Given the description of an element on the screen output the (x, y) to click on. 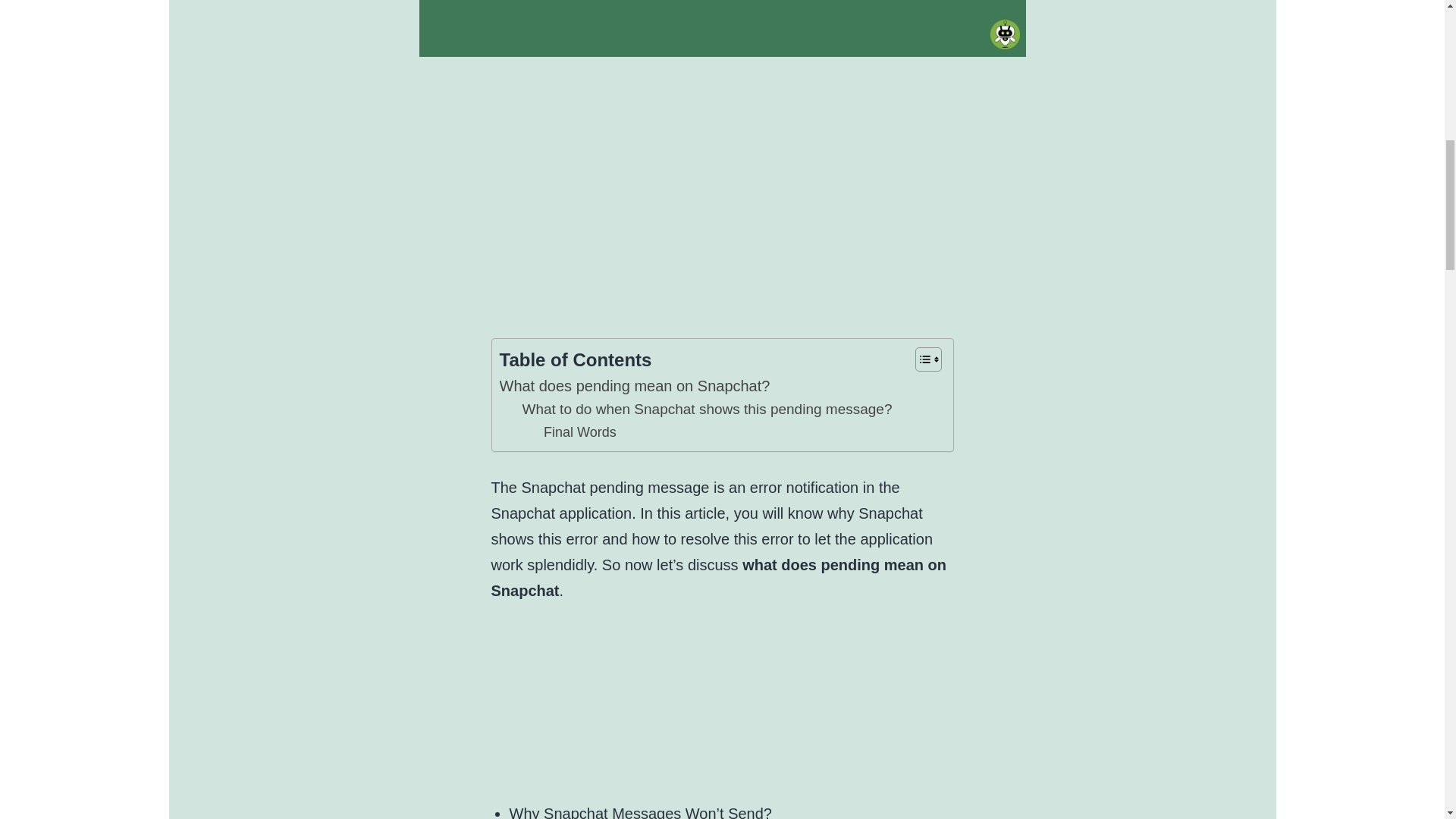
What does pending mean on Snapchat? (634, 385)
Final Words (579, 432)
What to do when Snapchat shows this pending message? (706, 409)
What to do when Snapchat shows this pending message? (706, 409)
What does pending mean on Snapchat? (634, 385)
Advertisement (870, 702)
Final Words (579, 432)
